Given the description of an element on the screen output the (x, y) to click on. 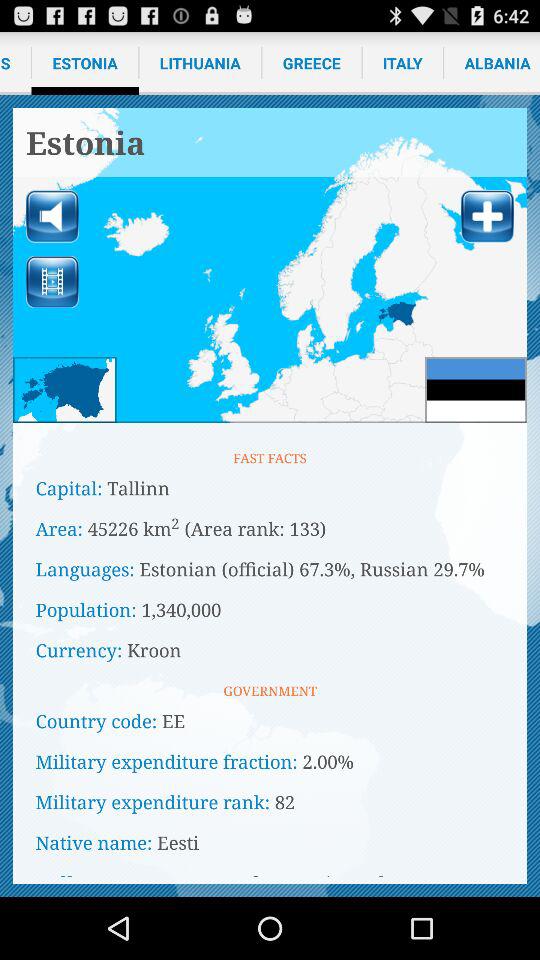
adv link (269, 265)
